Given the description of an element on the screen output the (x, y) to click on. 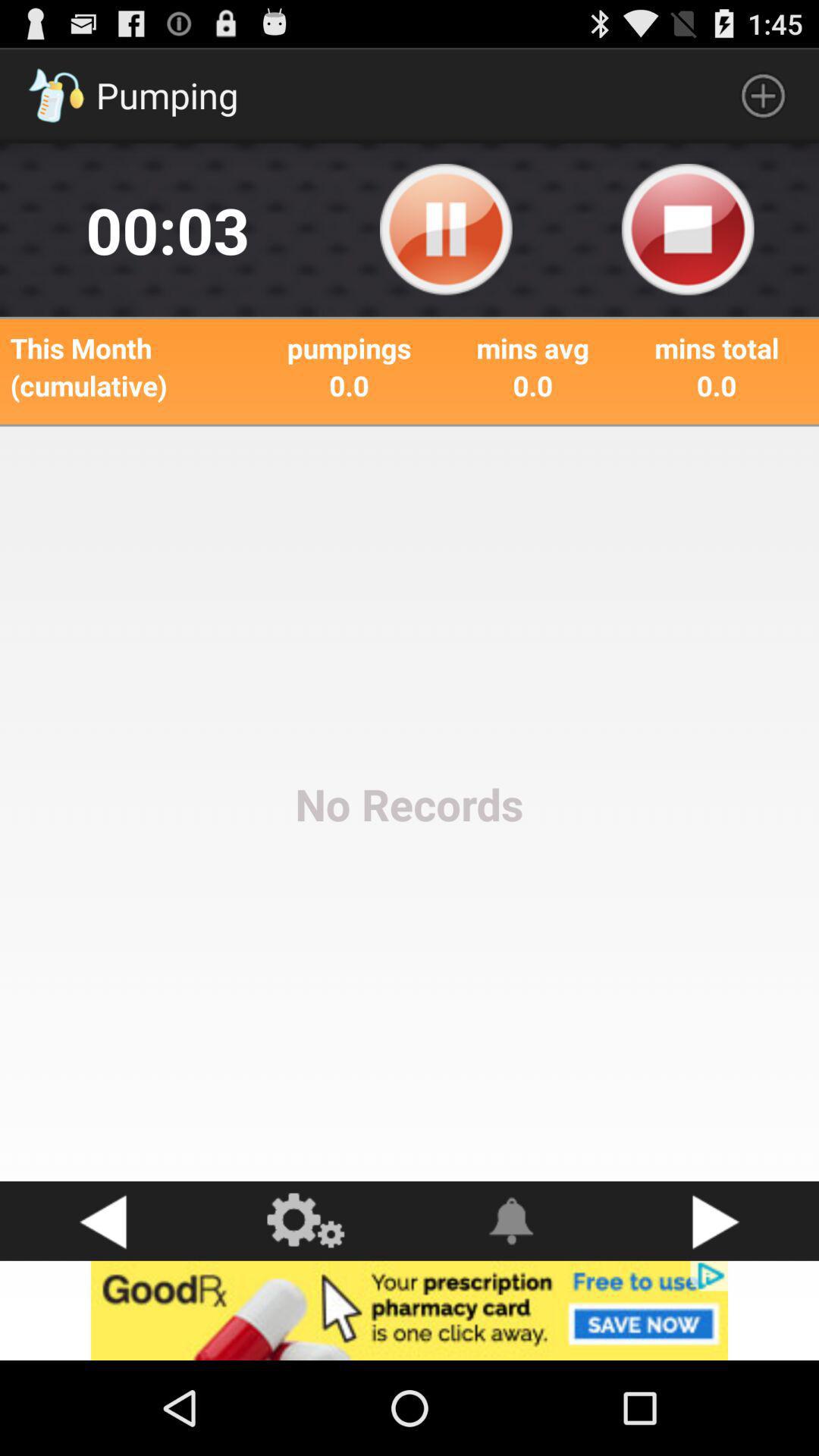
notifications (511, 1220)
